Given the description of an element on the screen output the (x, y) to click on. 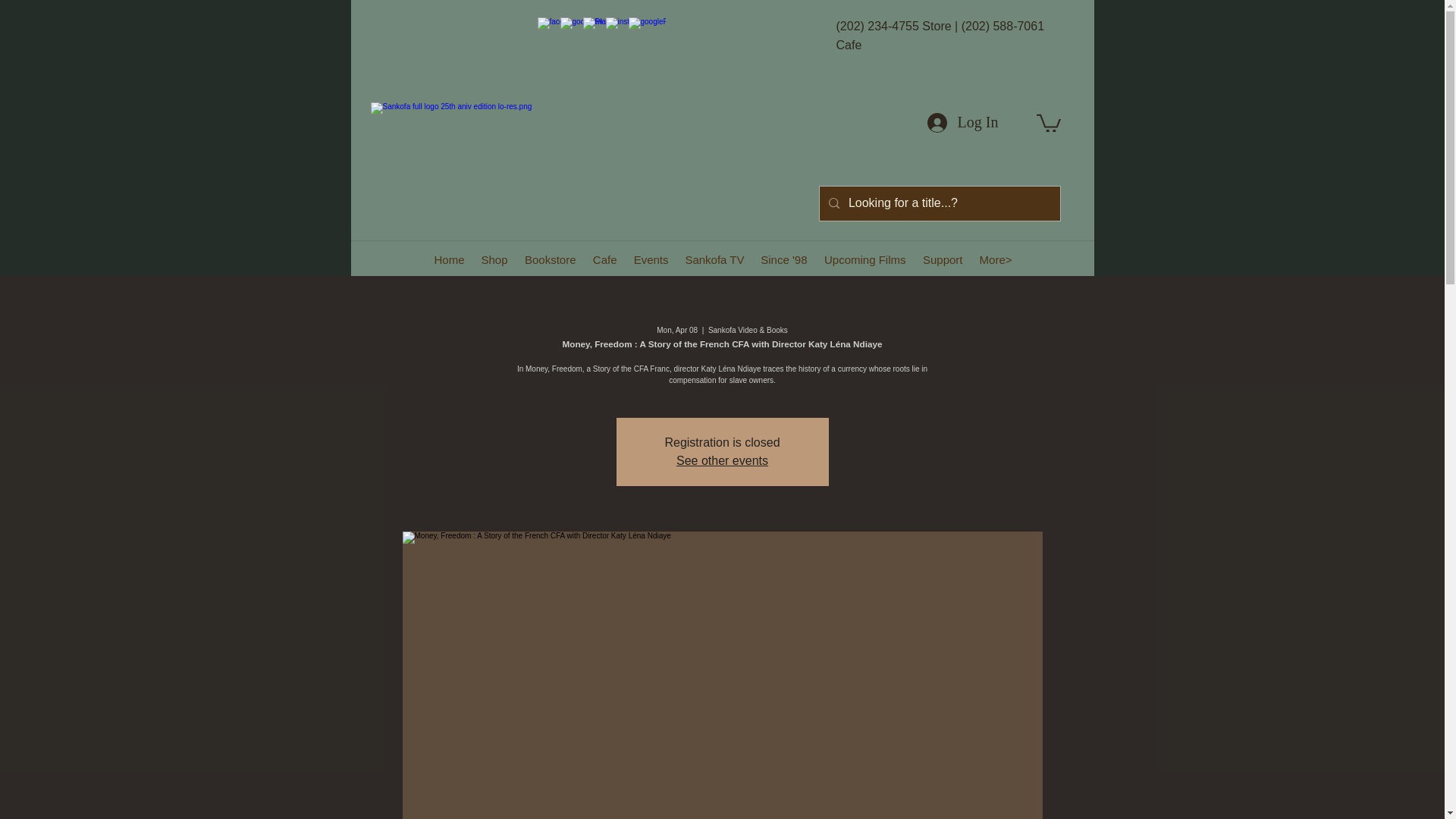
Log In (961, 122)
Home (448, 260)
